Given the description of an element on the screen output the (x, y) to click on. 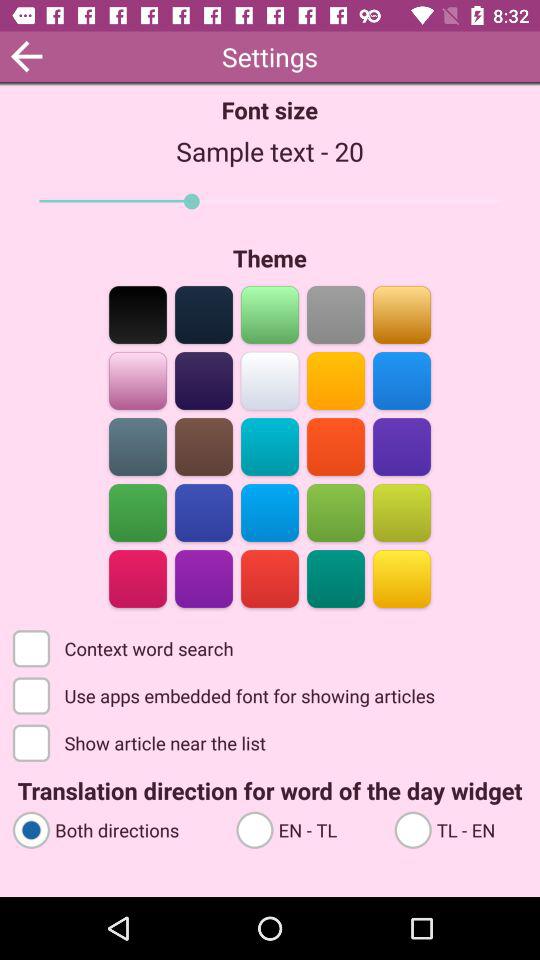
choose this color (335, 379)
